Given the description of an element on the screen output the (x, y) to click on. 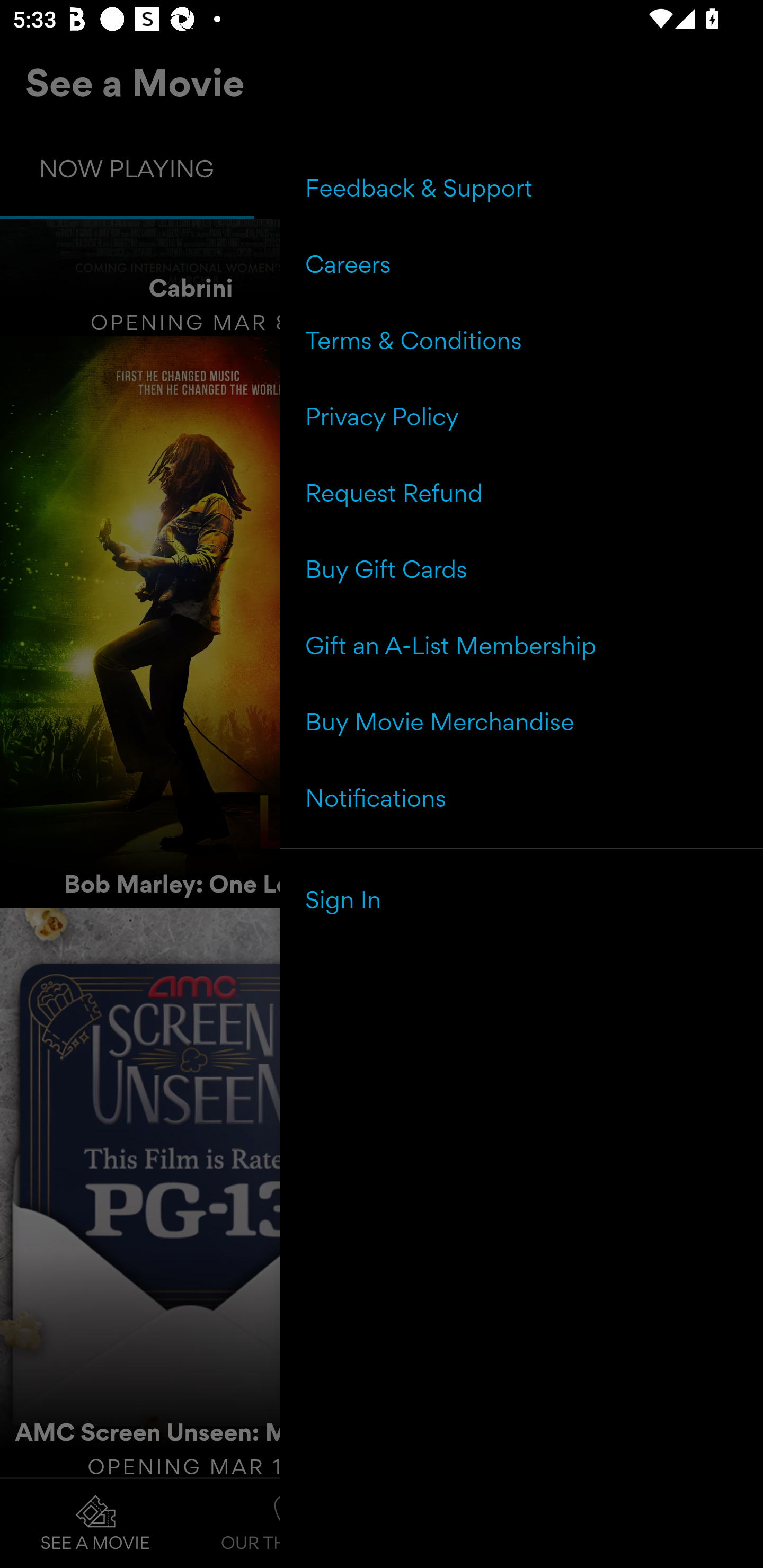
Feedback & Support (521, 186)
Careers (521, 263)
Terms & Conditions (521, 339)
Privacy Policy (521, 415)
Request Refund (521, 492)
Buy Gift Cards (521, 568)
Gift an A-List Membership (521, 644)
Buy Movie Merchandise (521, 720)
Notifications (521, 796)
Sign In (521, 898)
